Given the description of an element on the screen output the (x, y) to click on. 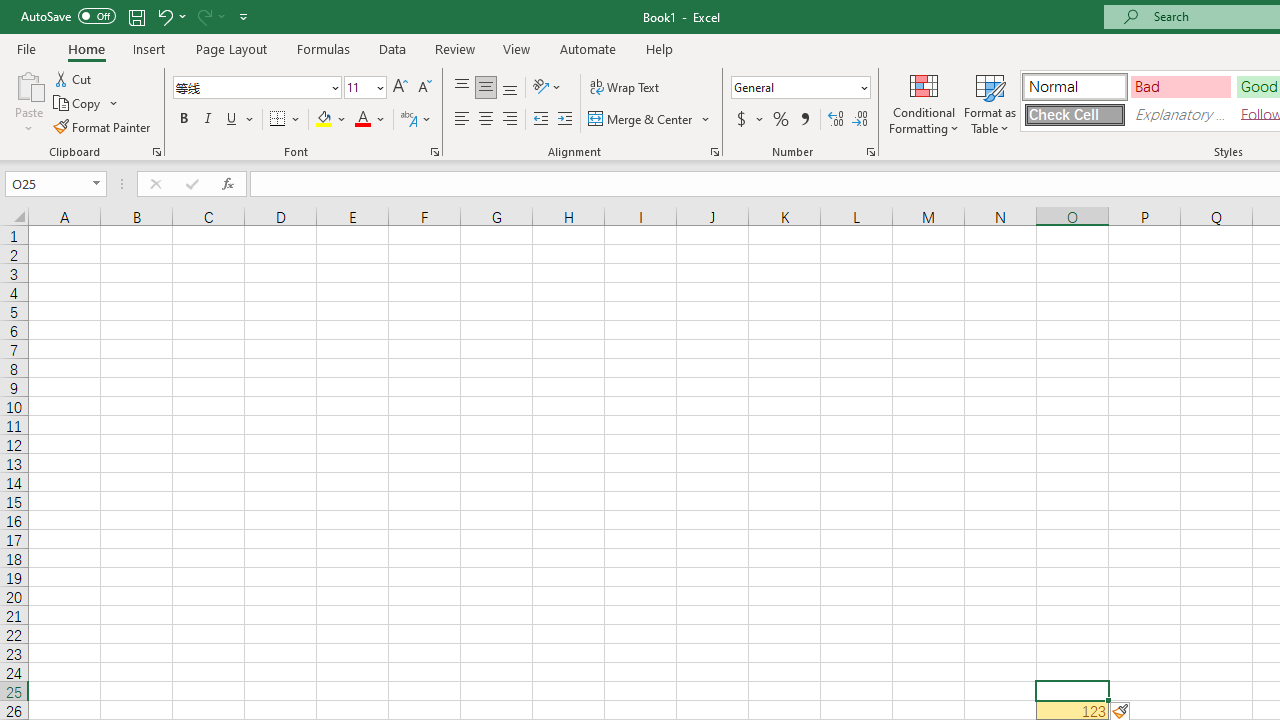
Decrease Font Size (424, 87)
Font (256, 87)
Home (86, 48)
Format Painter (103, 126)
Format Cell Number (870, 151)
Copy (78, 103)
AutoSave (68, 16)
Bottom Border (278, 119)
Top Align (461, 87)
Comma Style (804, 119)
Percent Style (781, 119)
Customize Quick Access Toolbar (244, 15)
Merge & Center (649, 119)
